Given the description of an element on the screen output the (x, y) to click on. 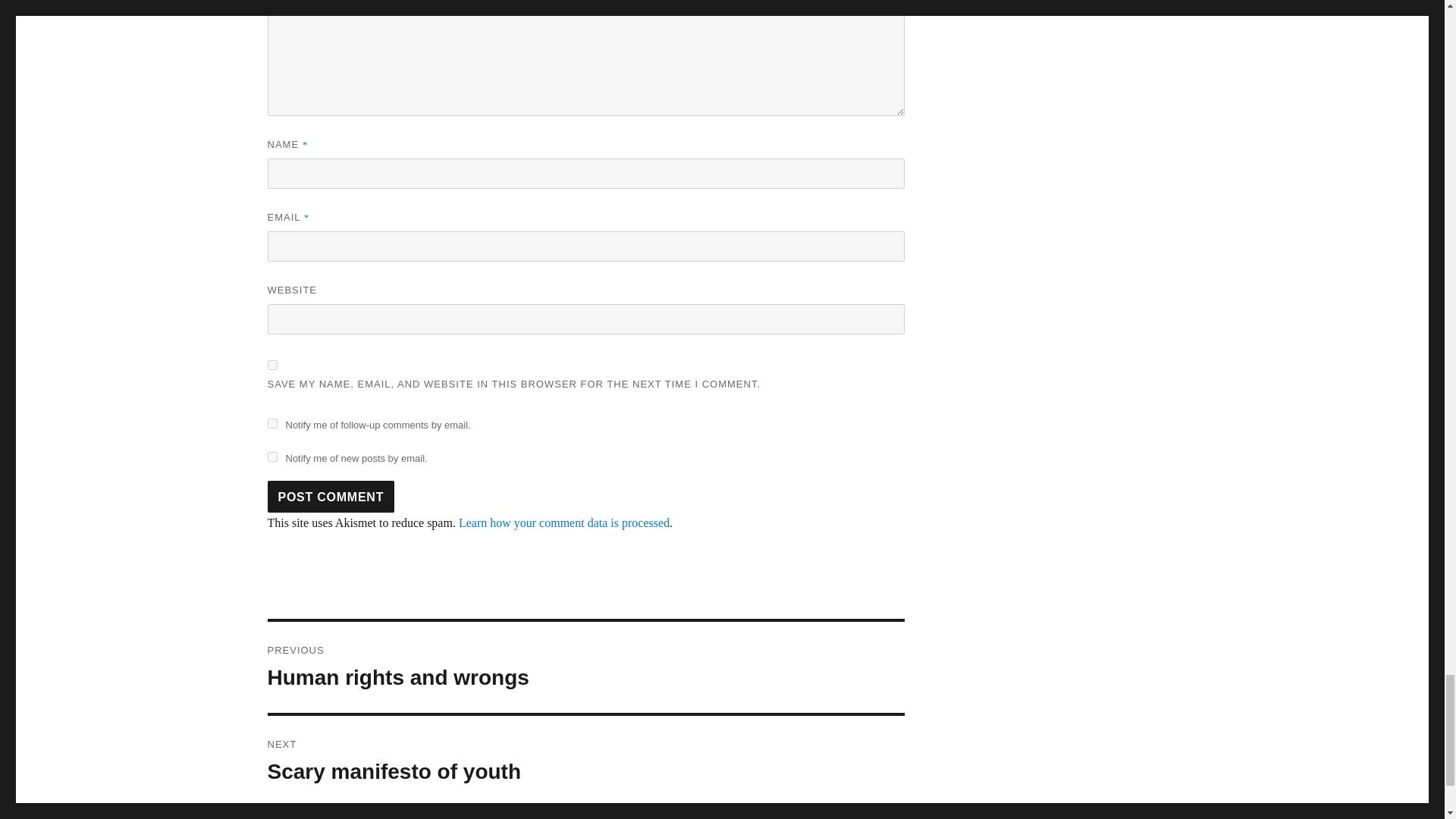
subscribe (271, 456)
yes (271, 365)
Post Comment (330, 496)
subscribe (271, 423)
